Given the description of an element on the screen output the (x, y) to click on. 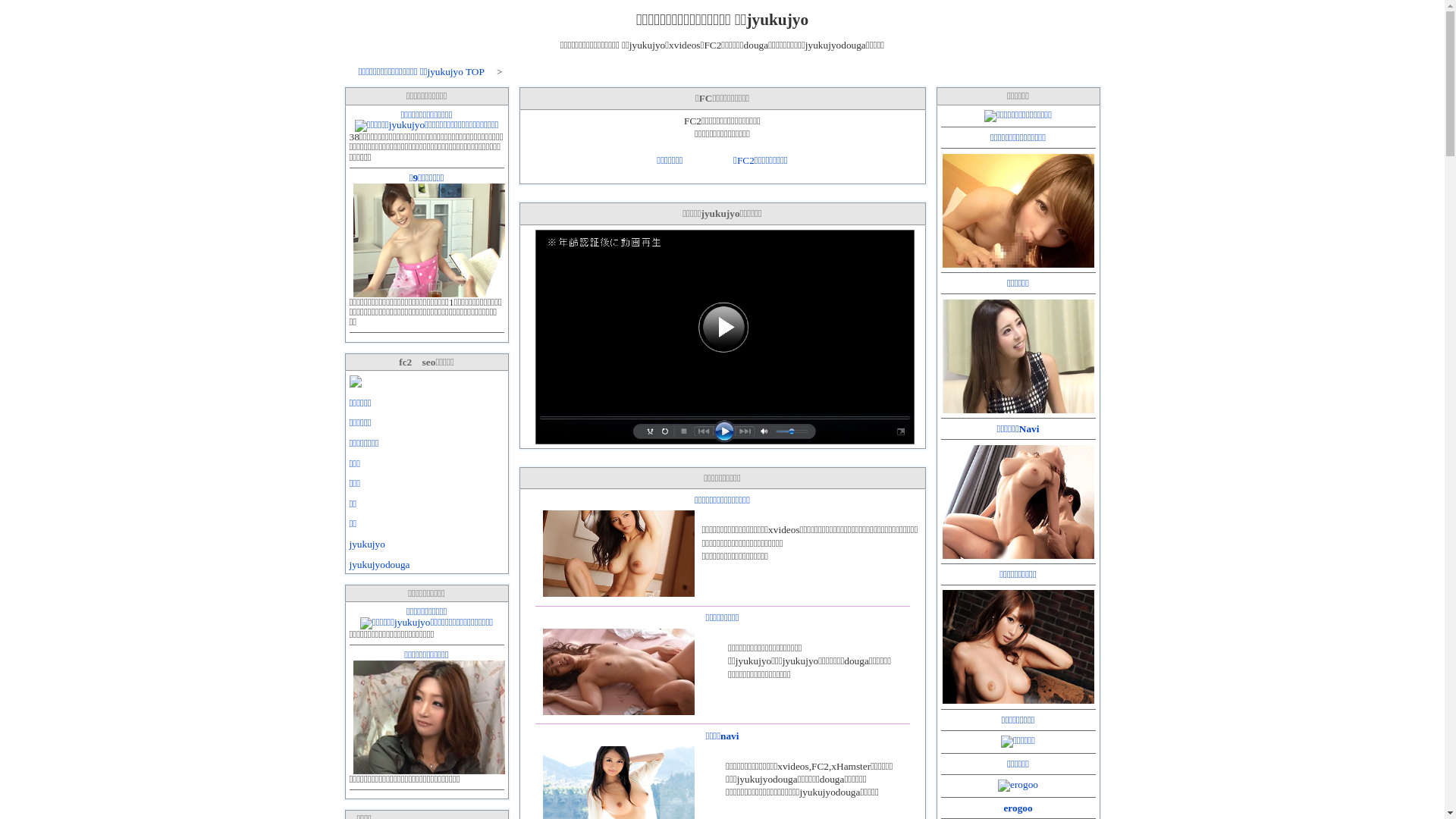
erogoo Element type: text (1017, 807)
jyukujyodouga Element type: text (378, 564)
jyukujyo Element type: text (366, 543)
